Given the description of an element on the screen output the (x, y) to click on. 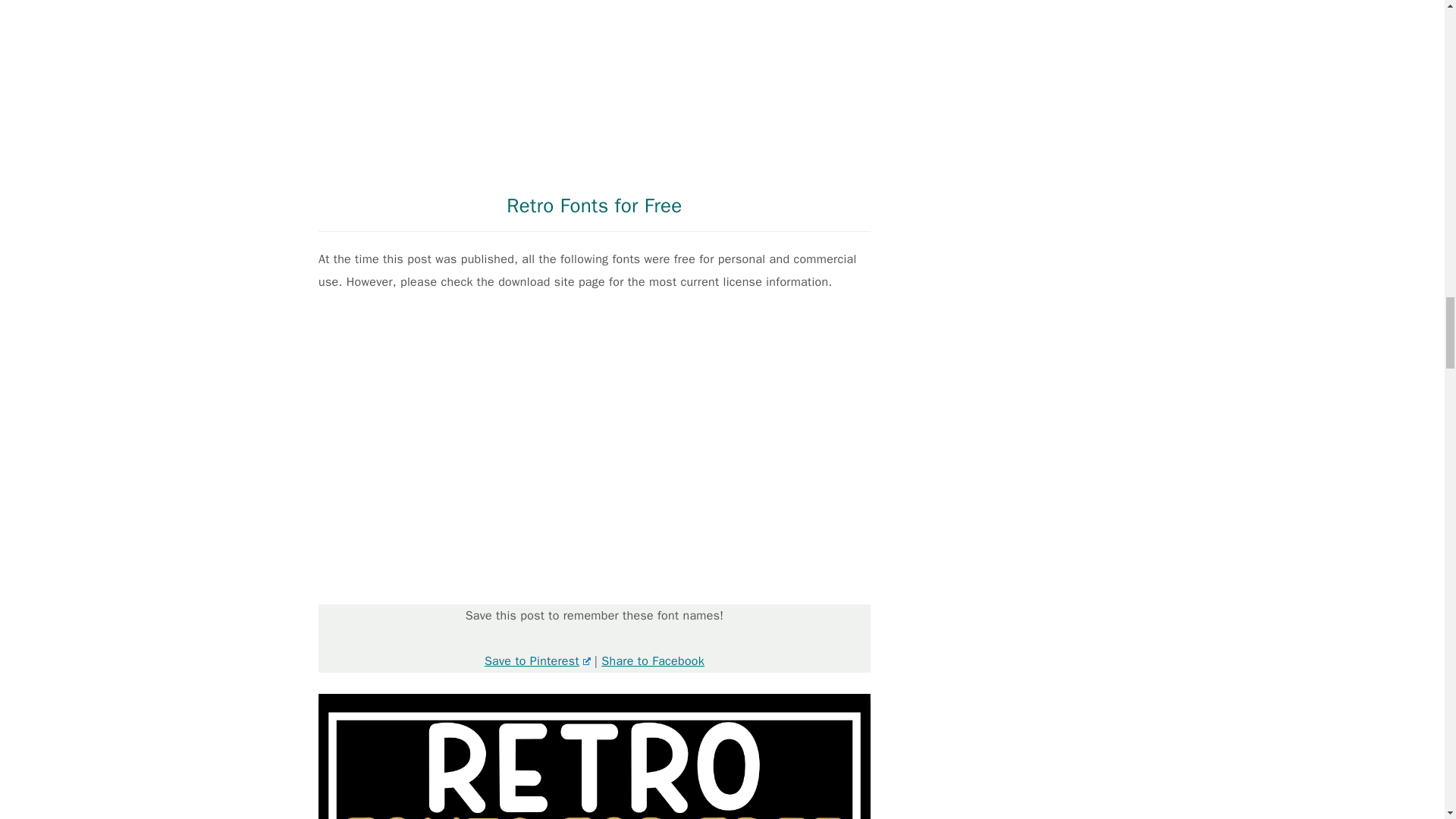
Share to Facebook (652, 661)
Save to Pinterest (537, 661)
